Given the description of an element on the screen output the (x, y) to click on. 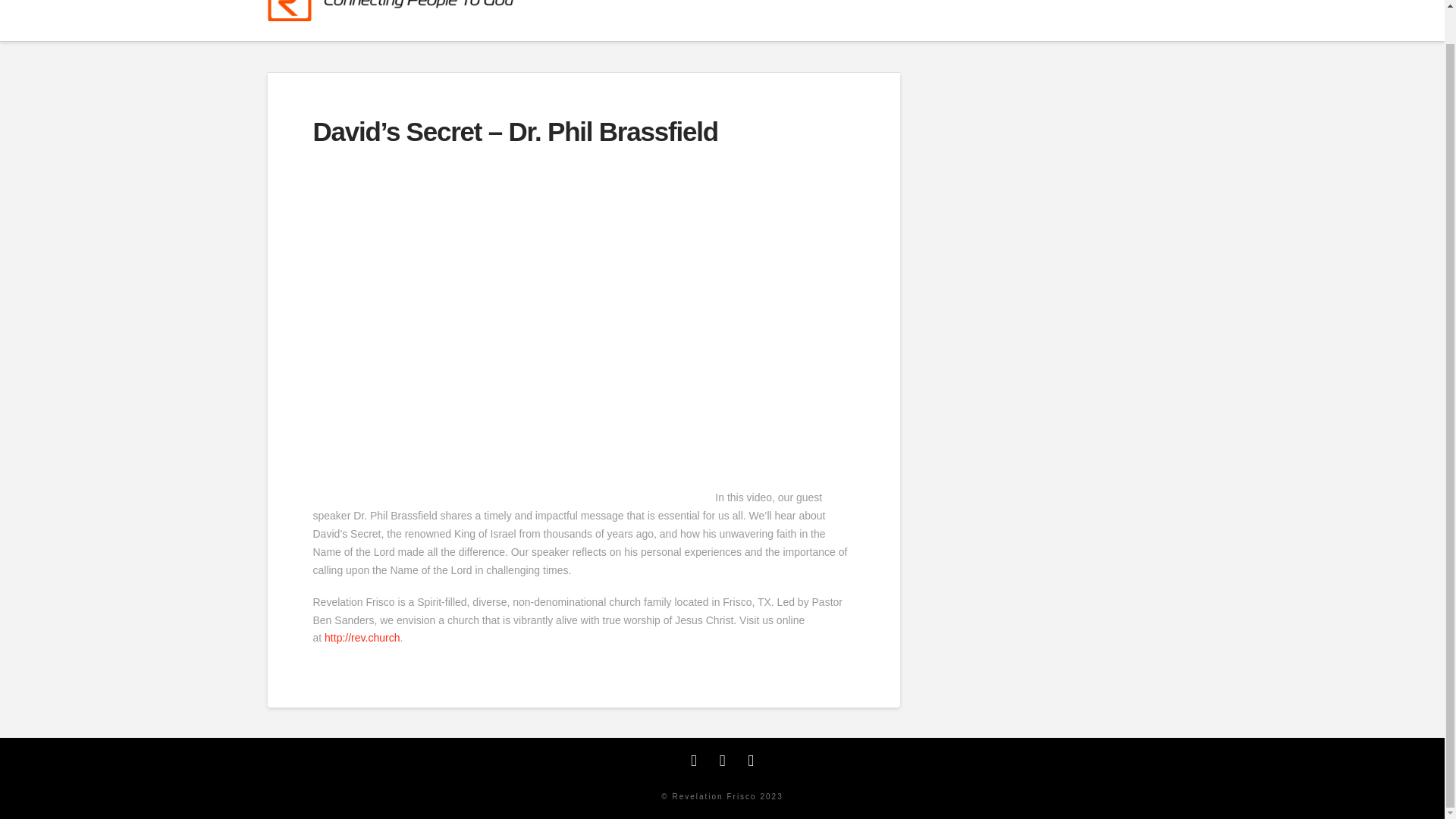
CONTACT US (1125, 20)
MESSAGES (1025, 20)
GIVING (940, 20)
HOME (699, 20)
ABOUT (768, 20)
NEXT STEPS (857, 20)
